Given the description of an element on the screen output the (x, y) to click on. 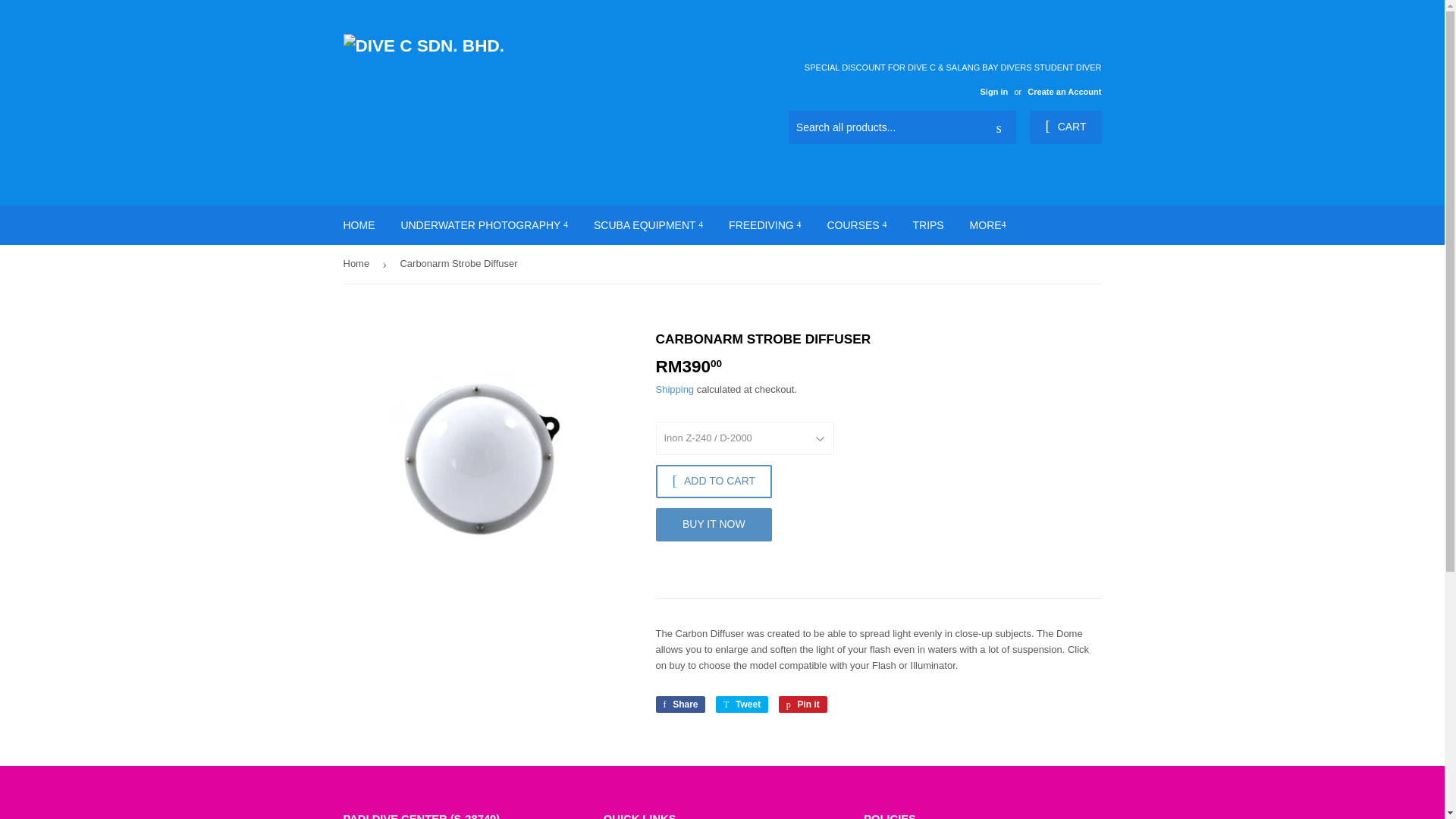
Create an Account (1063, 91)
CART (1064, 127)
Sign in (993, 91)
Tweet on Twitter (742, 704)
Share on Facebook (679, 704)
Pin on Pinterest (802, 704)
Search (998, 128)
